Given the description of an element on the screen output the (x, y) to click on. 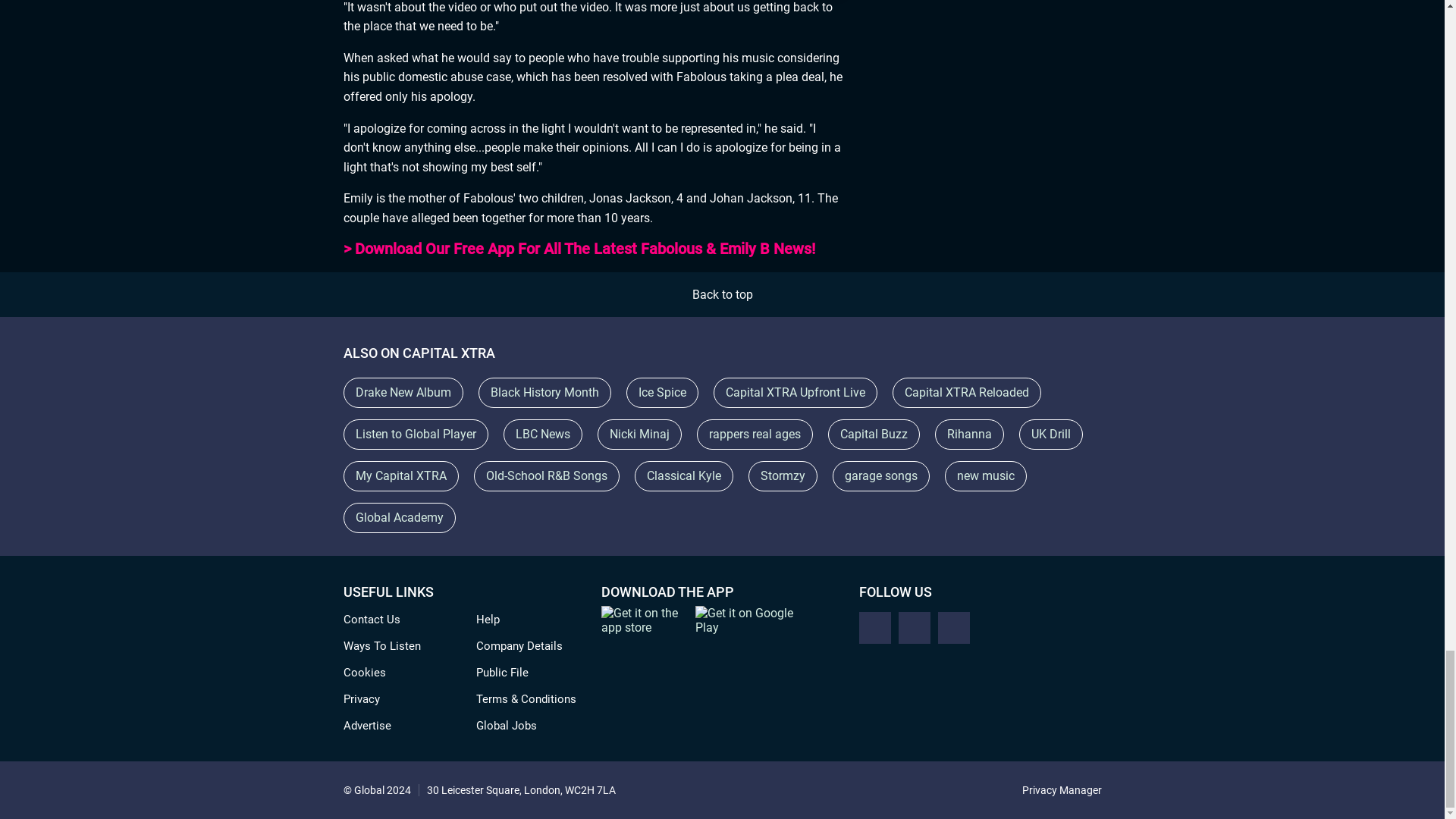
Follow CapitalXtra on Youtube (953, 627)
Back to top (721, 294)
Follow CapitalXtra on Facebook (874, 627)
Follow CapitalXtra on Instagram (914, 627)
